Given the description of an element on the screen output the (x, y) to click on. 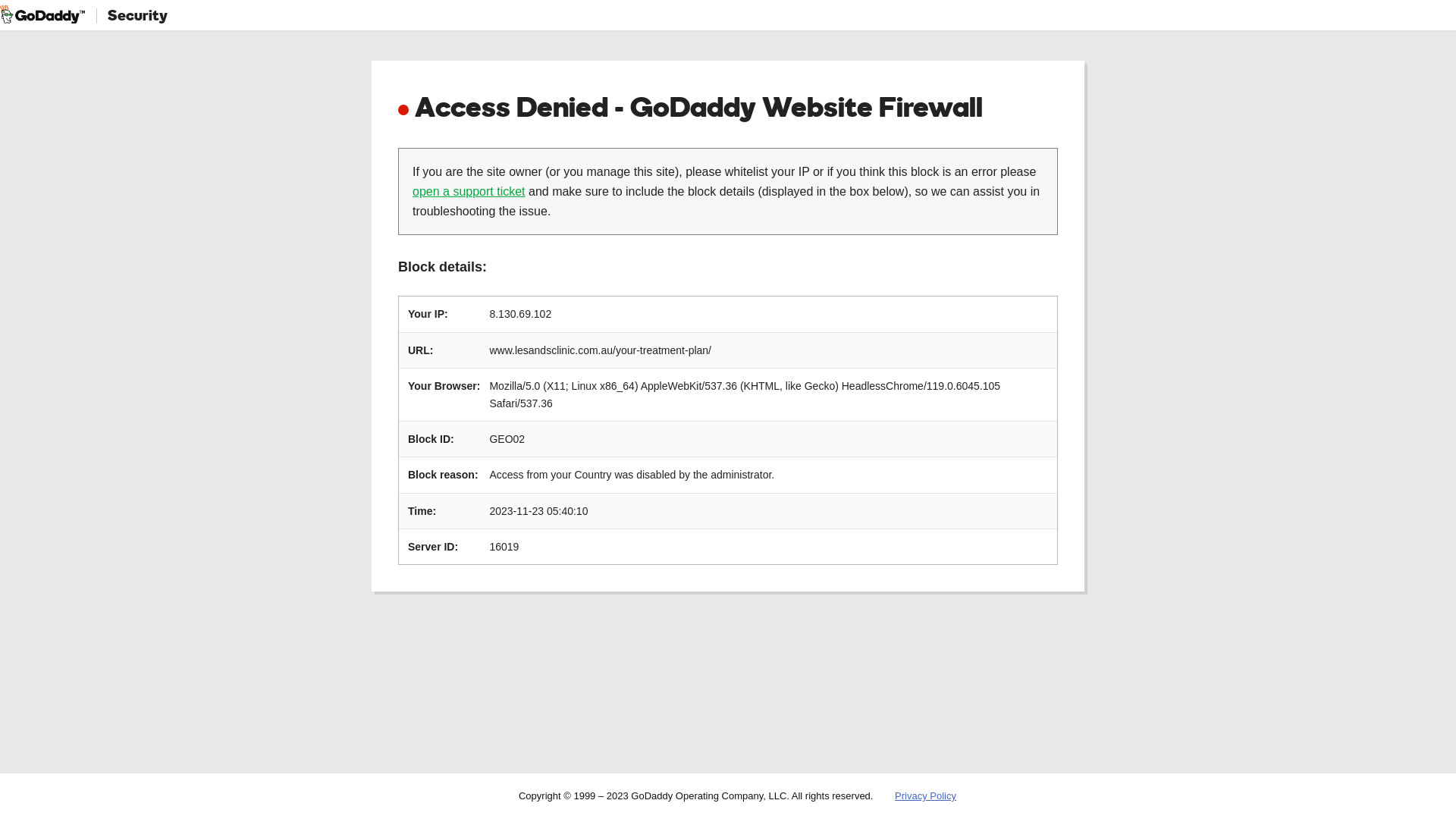
Privacy Policy Element type: text (925, 795)
open a support ticket Element type: text (468, 191)
